Given the description of an element on the screen output the (x, y) to click on. 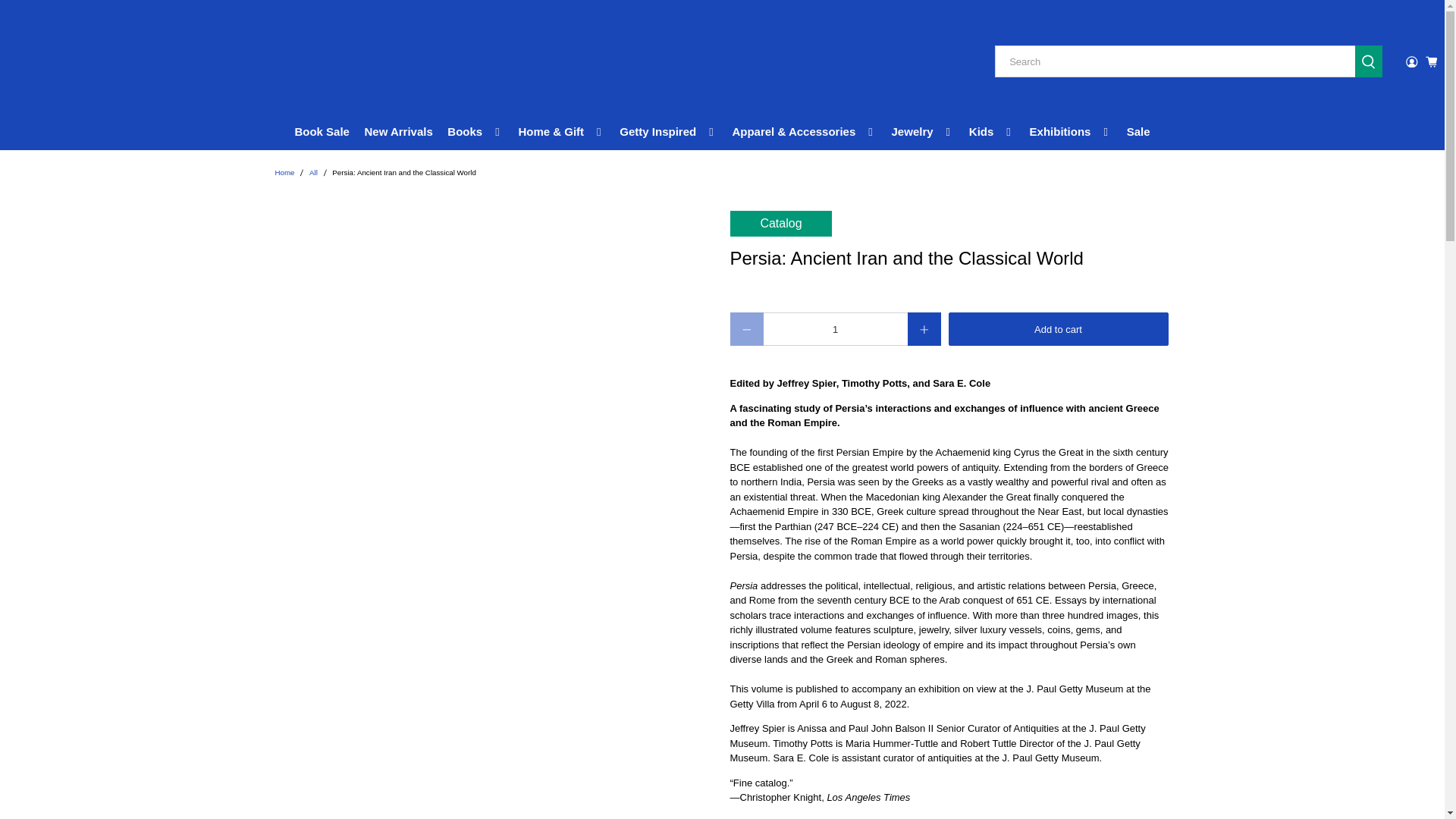
New Arrivals (398, 131)
Getty Museum Store (284, 172)
Getty Museum Store (82, 61)
1 (834, 328)
Getty Inspired (668, 131)
Books (476, 131)
Book Sale (321, 131)
